Given the description of an element on the screen output the (x, y) to click on. 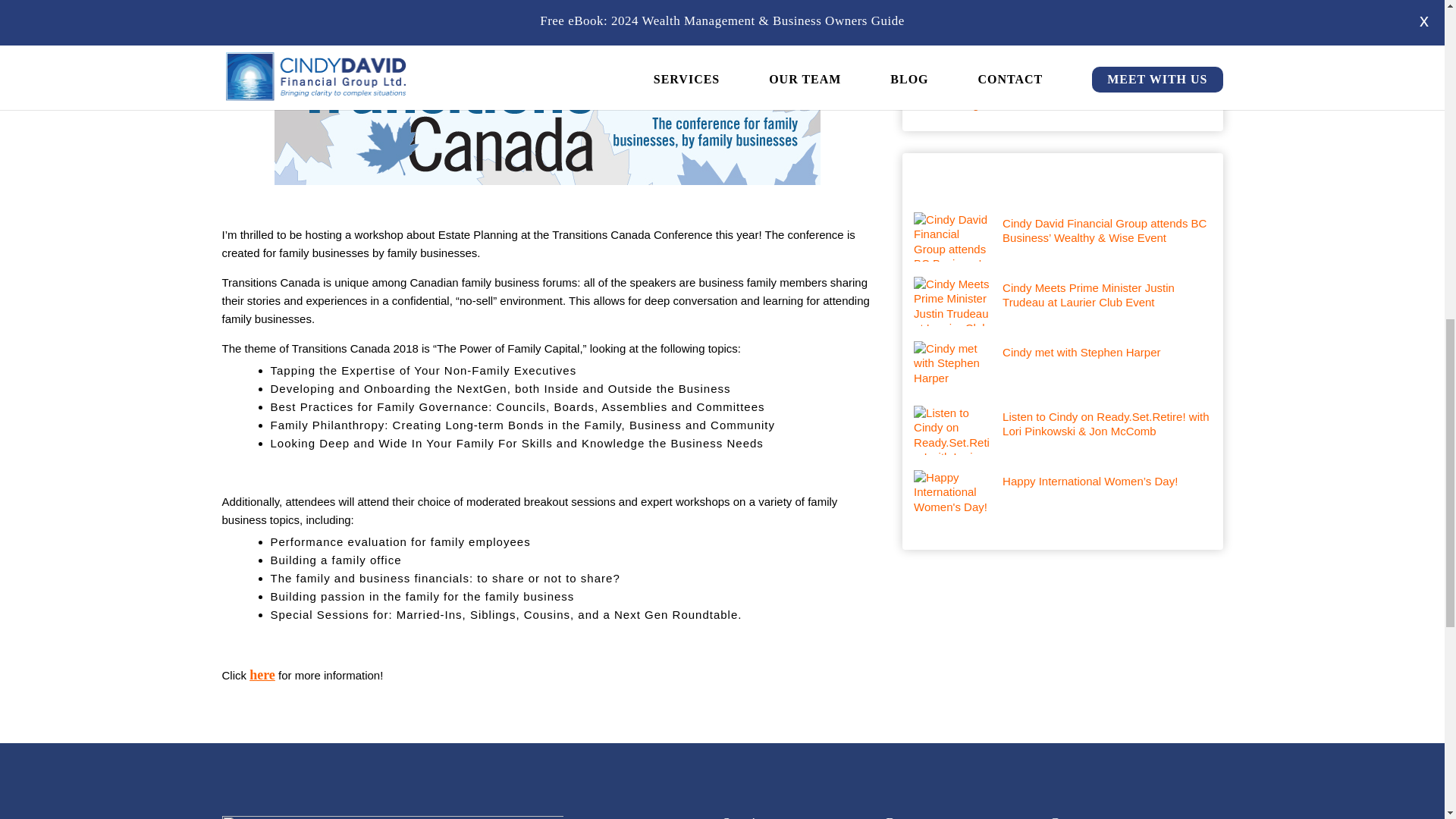
Cindy met with Stephen Harper (1062, 352)
here (261, 674)
News (1062, 67)
Tax Planning (1062, 104)
Estate Planning (1062, 11)
Cindy met with Stephen Harper (1062, 352)
Investing (1062, 48)
